Given the description of an element on the screen output the (x, y) to click on. 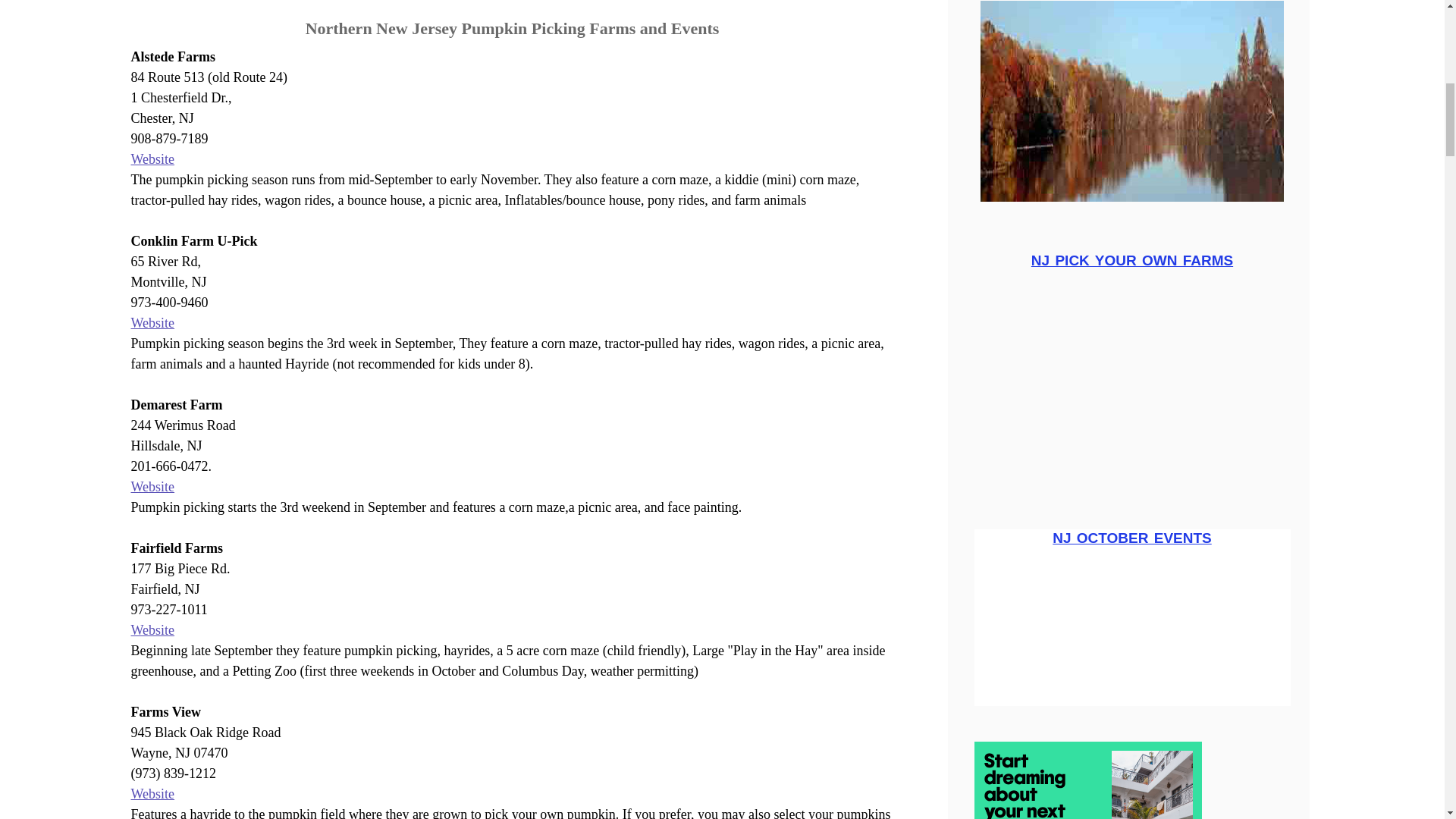
NJ PICK YOUR OWN FARMS (1131, 378)
Go to Best New Jersey October Events and Festivals (1131, 695)
Go to The Best Pick Your Own New Jersey Farms (1131, 474)
